Given the description of an element on the screen output the (x, y) to click on. 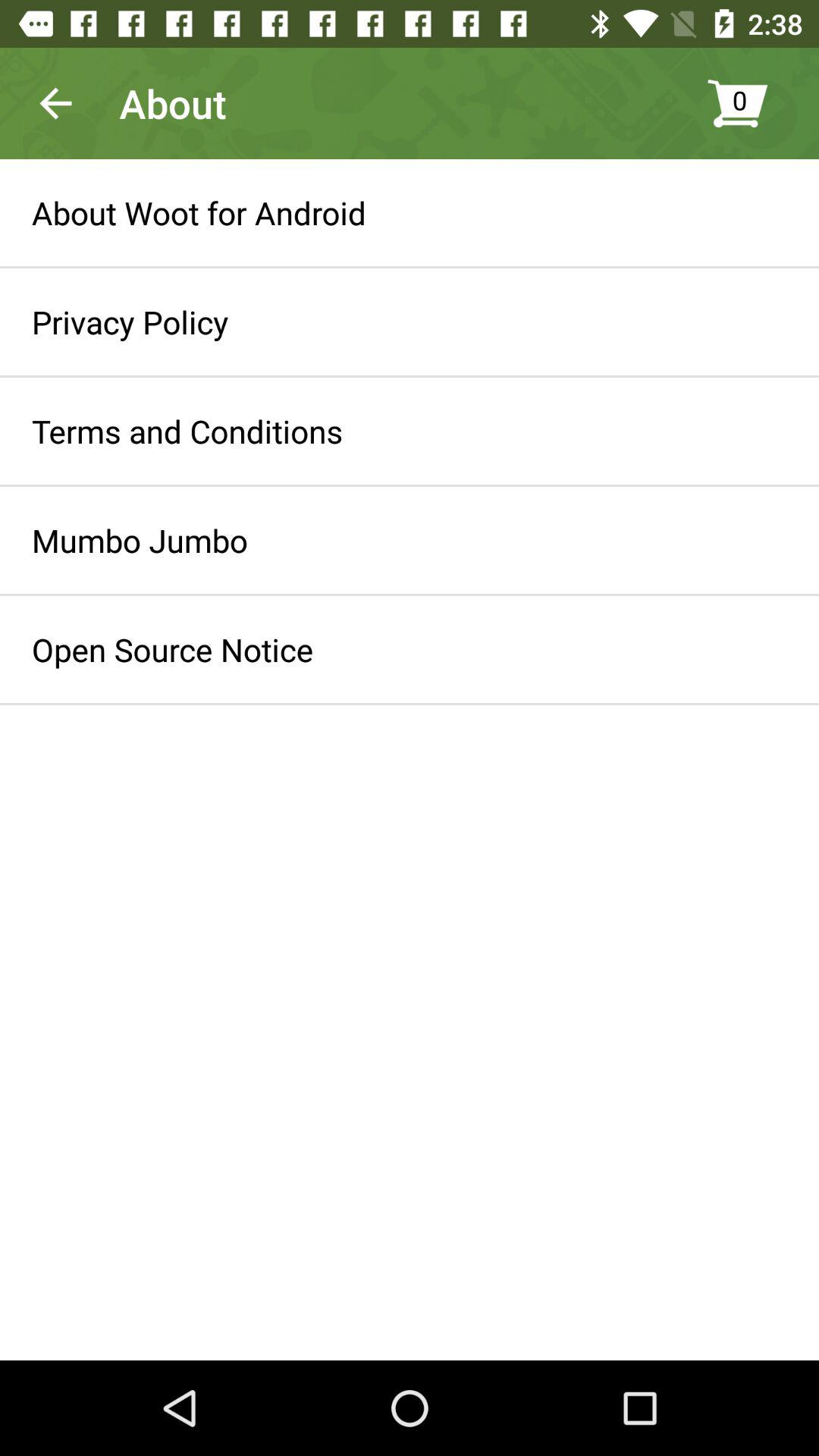
turn off terms and conditions item (186, 430)
